Given the description of an element on the screen output the (x, y) to click on. 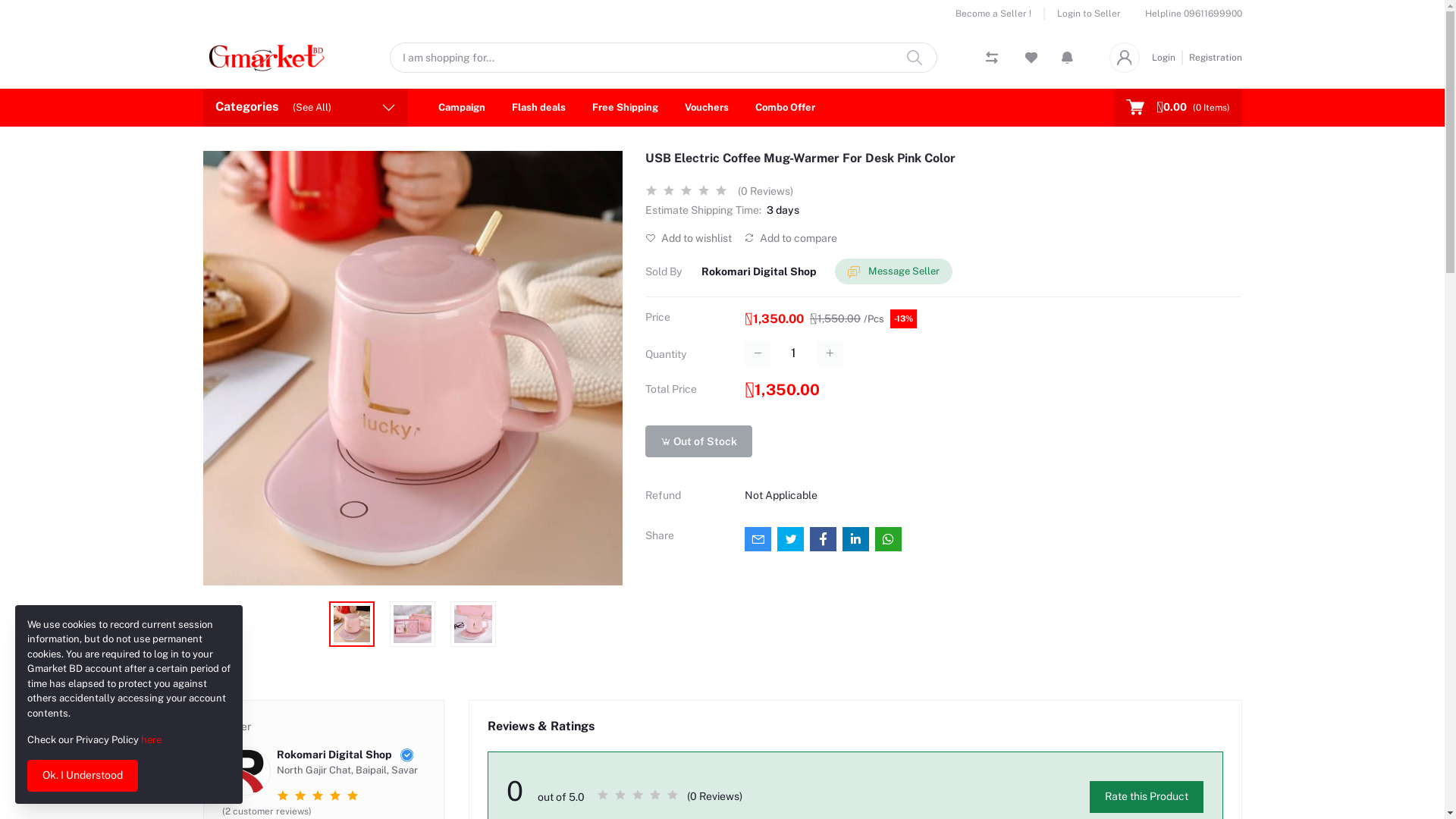
Flash deals Element type: text (537, 107)
Rokomari Digital Shop Element type: text (758, 271)
Campaign Element type: text (461, 107)
Login to Seller Element type: text (1082, 13)
Become a Seller ! Element type: text (999, 13)
Registration Element type: text (1212, 56)
Vouchers Element type: text (705, 107)
Helpline 09611699900 Element type: text (1193, 13)
Login Element type: text (1166, 56)
Combo Offer Element type: text (785, 107)
Ok. I Understood Element type: text (82, 775)
(See All) Element type: text (311, 106)
here Element type: text (151, 739)
Out of Stock Element type: text (698, 441)
Free Shipping Element type: text (624, 107)
Add to compare Element type: text (790, 238)
Message Seller Element type: text (893, 271)
Rate this Product Element type: text (1146, 796)
Rokomari Digital Shop Element type: text (323, 754)
Add to wishlist Element type: text (688, 238)
